Given the description of an element on the screen output the (x, y) to click on. 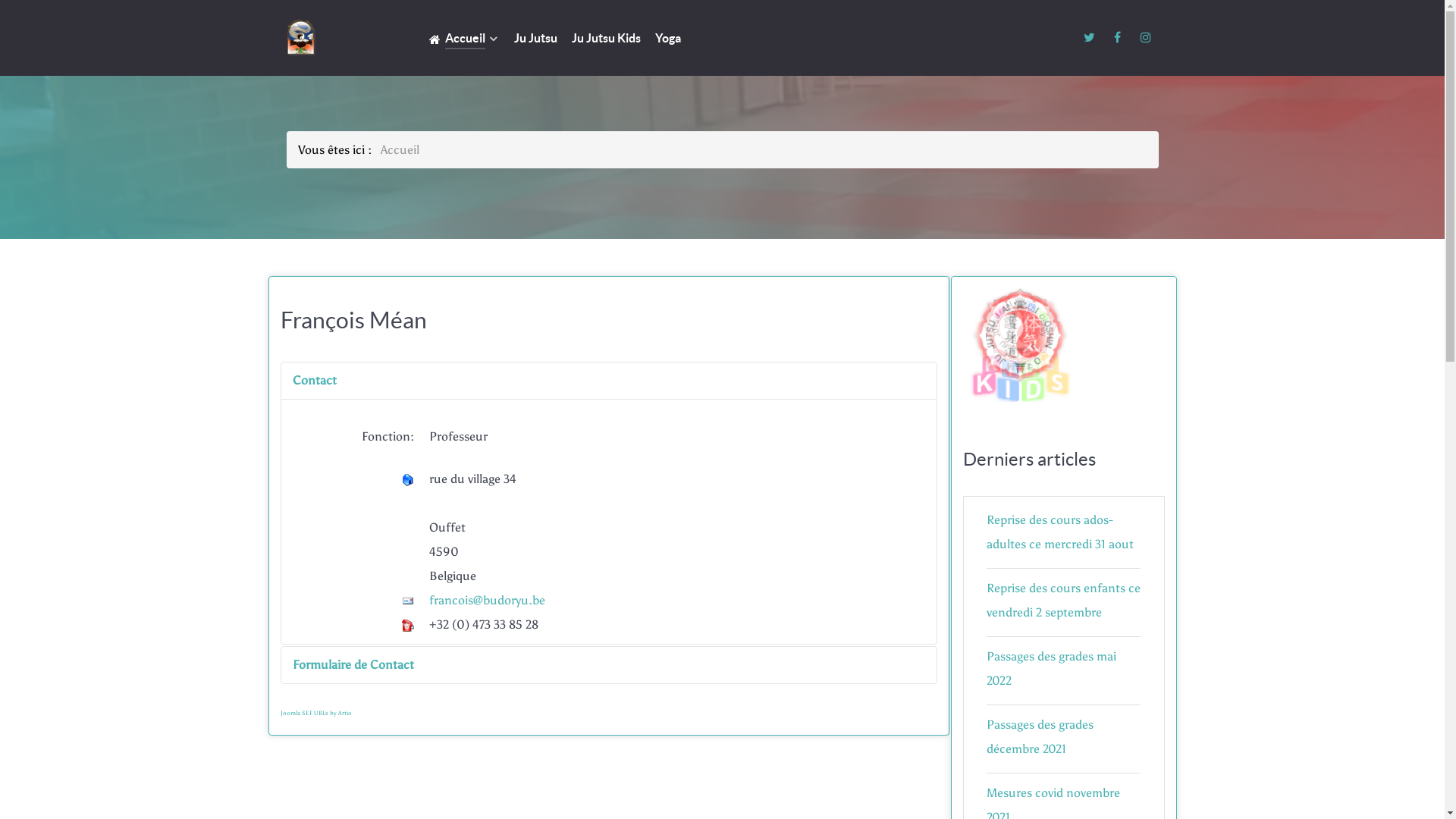
Reprise des cours ados-adultes ce mercredi 31 aout Element type: text (1059, 531)
Tai Ki Goshin Do Element type: hover (1019, 333)
Tai Ki Goshin Do KIDS Element type: hover (1019, 344)
Joomla SEF URLs by Artio Element type: text (315, 712)
Ju Jutsu Kids Element type: text (605, 39)
Reprise des cours enfants ce vendredi 2 septembre Element type: text (1063, 599)
Budoryu Ecole de la voie martiale Element type: hover (335, 37)
francois@budoryu.be Element type: text (487, 600)
Formulaire de Contact Element type: text (607, 664)
Yoga Element type: text (667, 39)
Accueil Element type: text (464, 39)
Passages des grades mai 2022 Element type: text (1051, 668)
Ju Jutsu Element type: text (535, 39)
Contact Element type: text (607, 380)
